Given the description of an element on the screen output the (x, y) to click on. 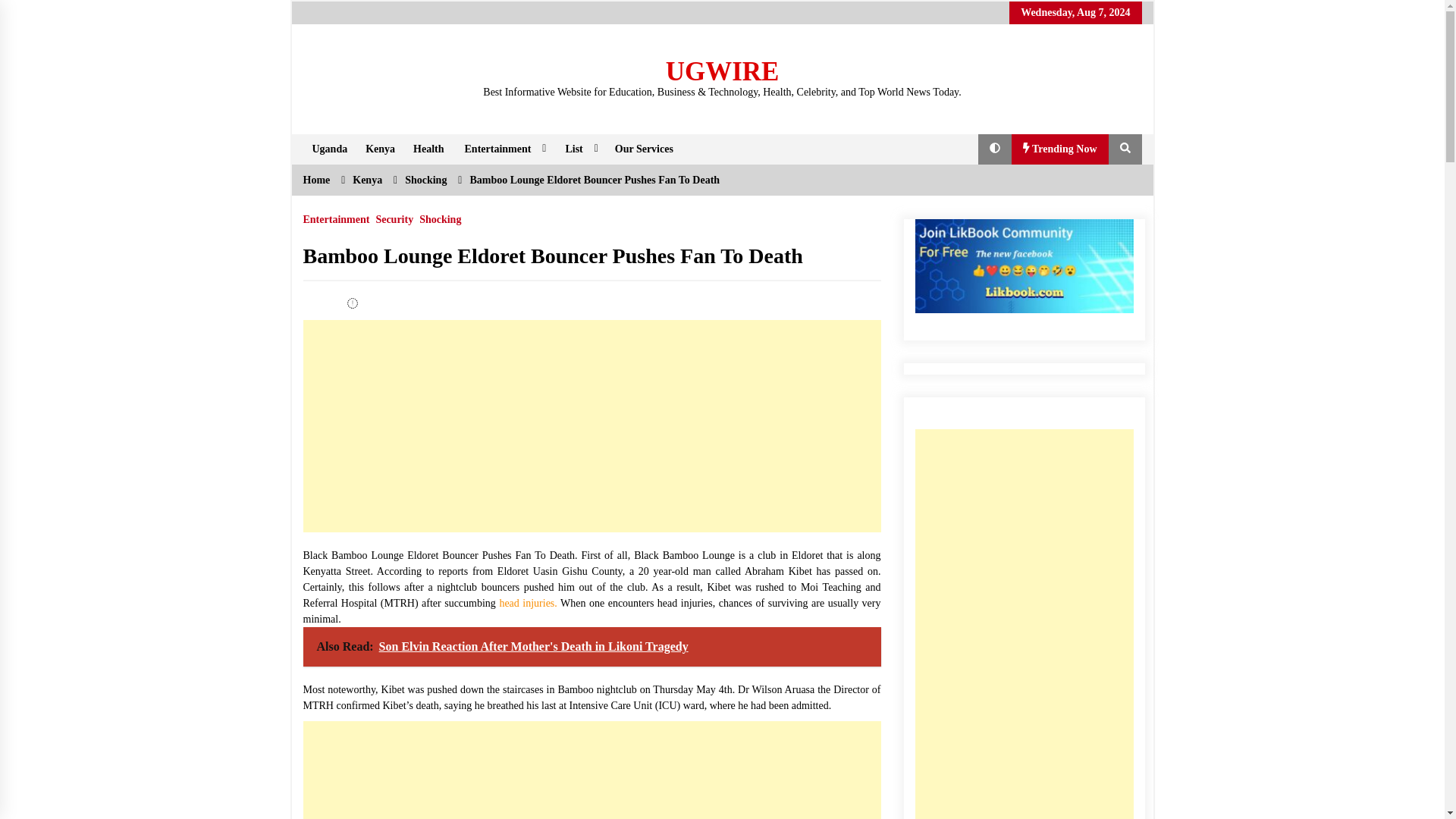
Advertisement (591, 426)
Health (428, 149)
UGWIRE (721, 71)
List (579, 149)
Our Services (643, 149)
Entertainment (503, 149)
Uganda (329, 149)
Kenya (380, 149)
Advertisement (591, 770)
